Given the description of an element on the screen output the (x, y) to click on. 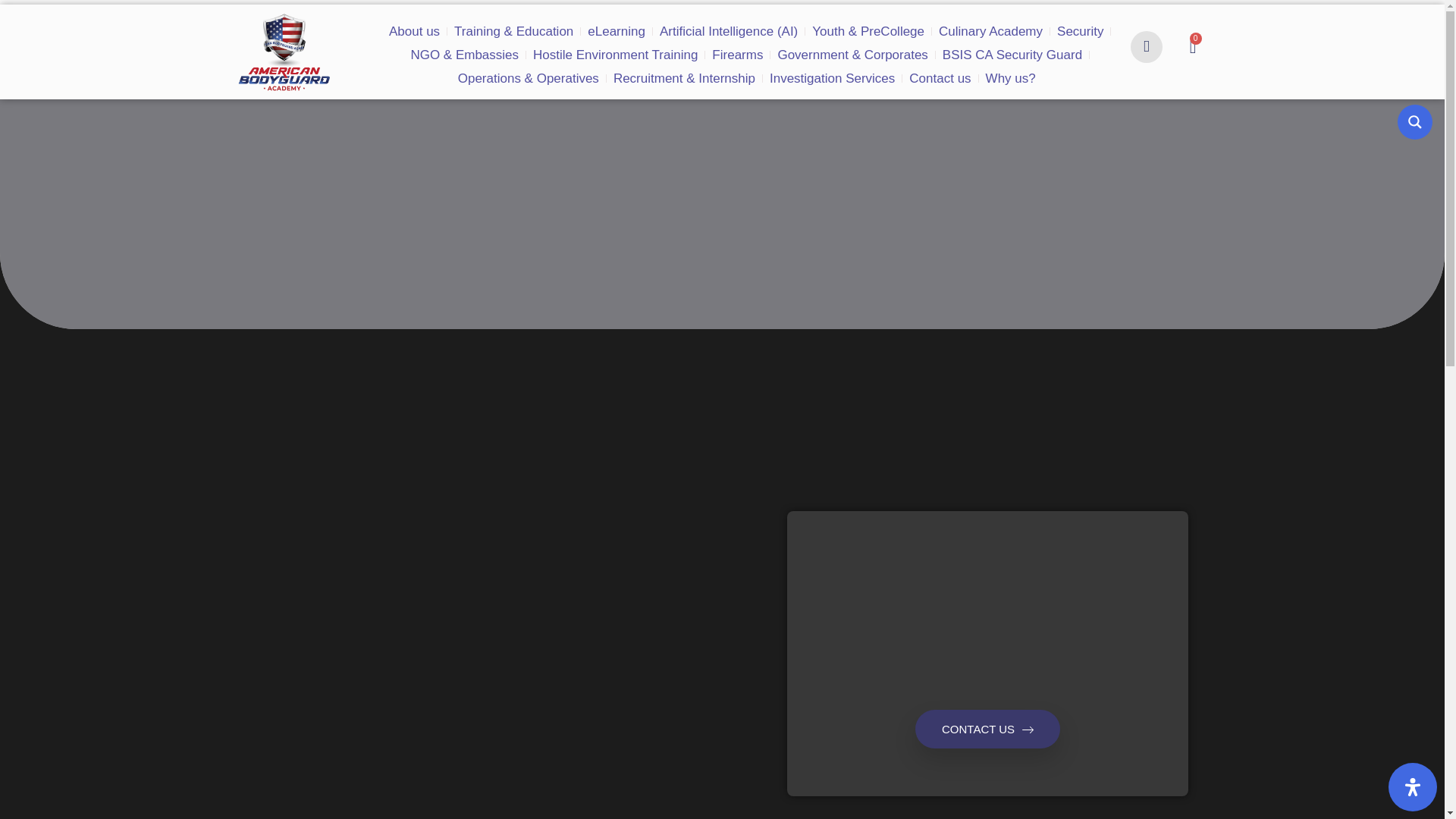
BSIS CA Security Guard (764, 41)
Accessibility (1413, 786)
Hostile Environment Training (432, 41)
Contact us (754, 64)
Investigation Services (663, 64)
About us (392, 17)
ARROW-ICON-SIZE3 (1027, 729)
Why us? (814, 64)
Culinary Academy (876, 17)
eLearning (563, 17)
Firearms (534, 41)
Security (952, 17)
